Given the description of an element on the screen output the (x, y) to click on. 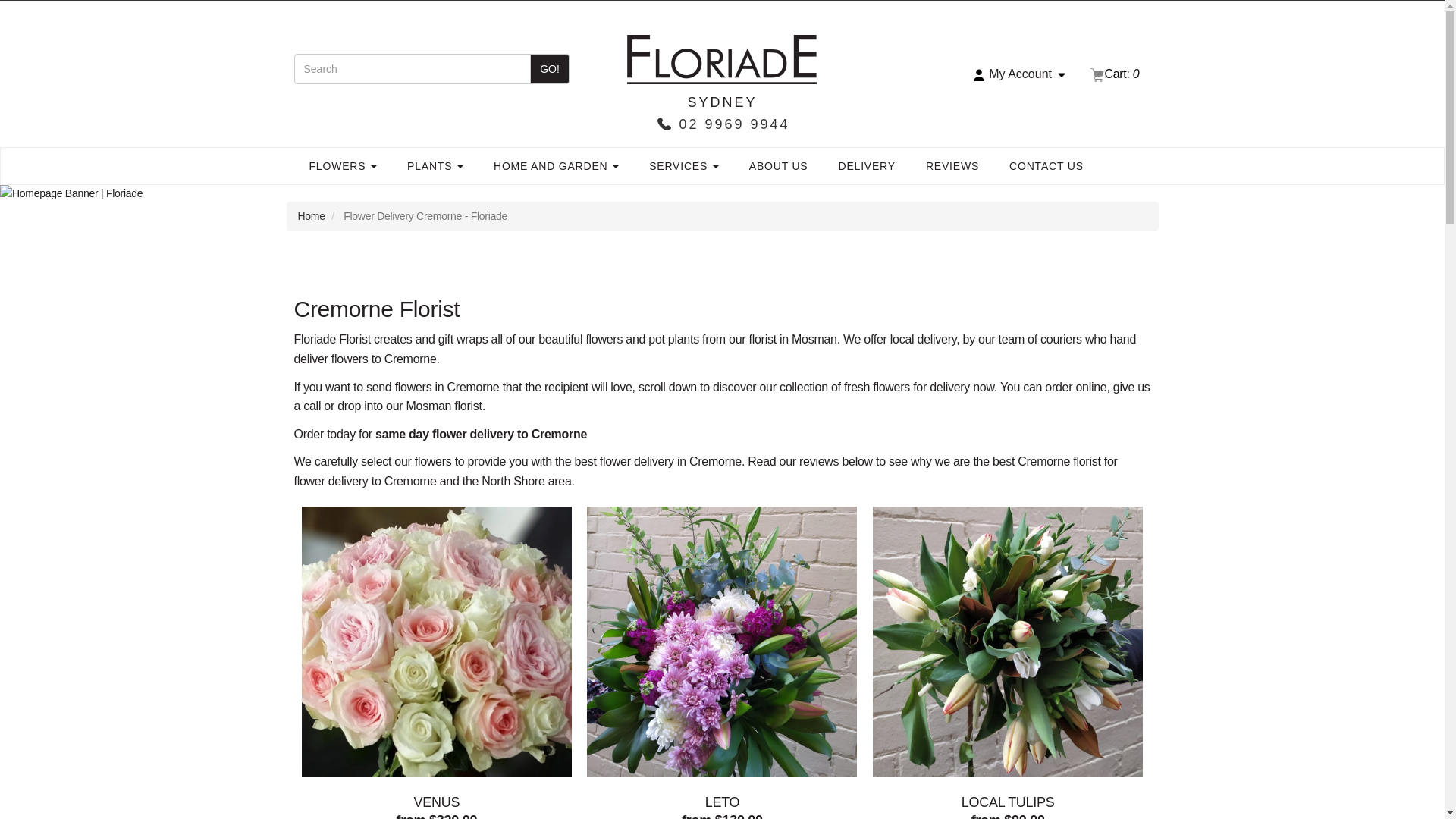
GO! (549, 69)
PLANTS (435, 166)
My Account (1020, 73)
02 9969 9944 (721, 124)
Local Tulips (1007, 641)
Leto (721, 641)
FLOWERS (343, 166)
Venus (436, 641)
Cart (1114, 73)
